Given the description of an element on the screen output the (x, y) to click on. 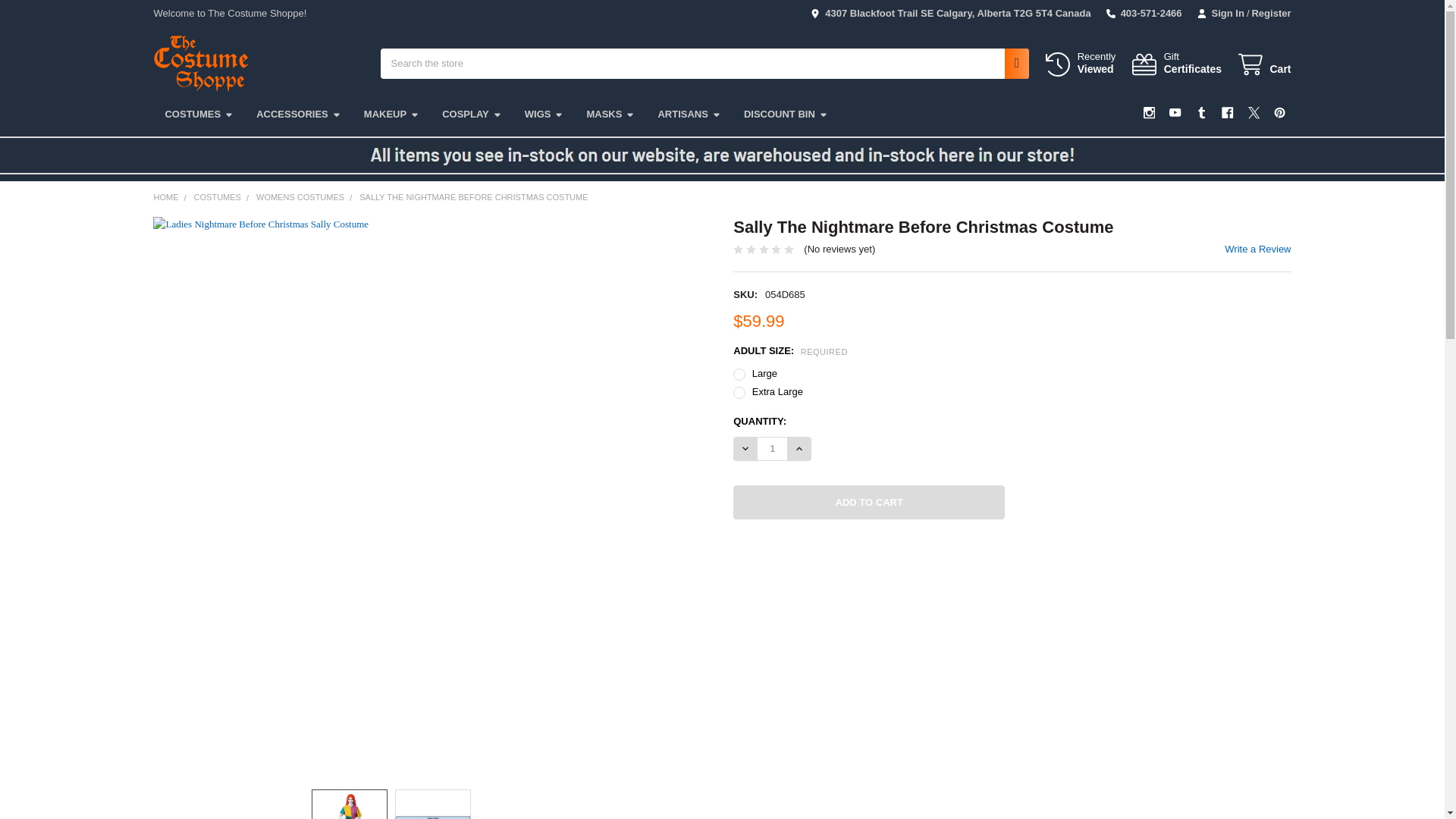
Sally The Nightmare Before Christmas Costume (433, 817)
1 (772, 448)
Add to Cart (868, 502)
Youtube (1174, 112)
Instagram (1149, 112)
ACCESSORIES (298, 113)
Cart (1263, 64)
Tumblr (1201, 112)
Cart (1263, 64)
Pinterest (1279, 112)
Recently Viewed (1079, 63)
COSTUMES (1079, 63)
25436 (198, 113)
